Given the description of an element on the screen output the (x, y) to click on. 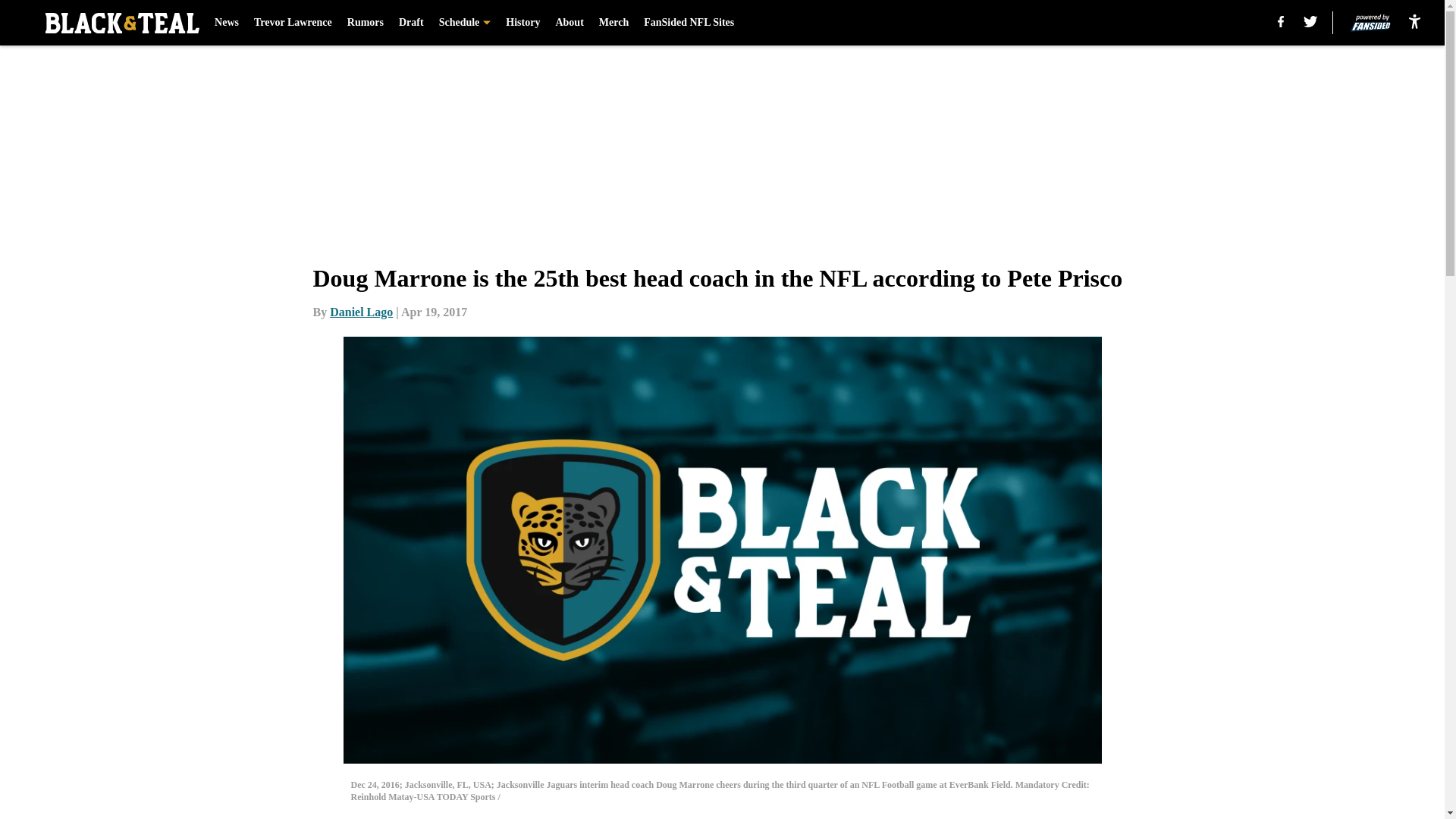
History (522, 22)
FanSided NFL Sites (688, 22)
About (568, 22)
Trevor Lawrence (292, 22)
Daniel Lago (361, 311)
News (226, 22)
Draft (410, 22)
Merch (613, 22)
Rumors (365, 22)
